Given the description of an element on the screen output the (x, y) to click on. 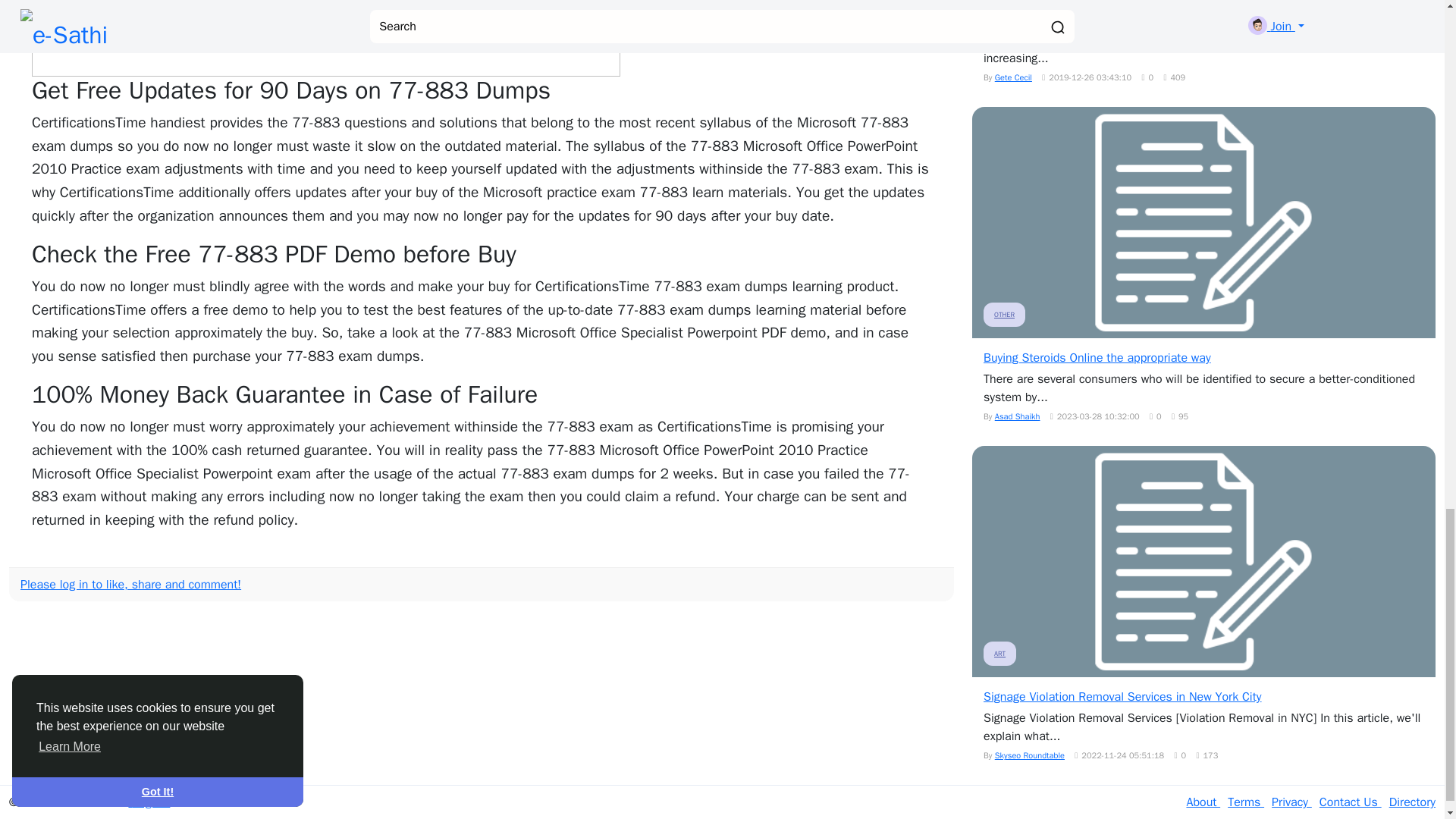
Please log in to like, share and comment! (130, 584)
